Given the description of an element on the screen output the (x, y) to click on. 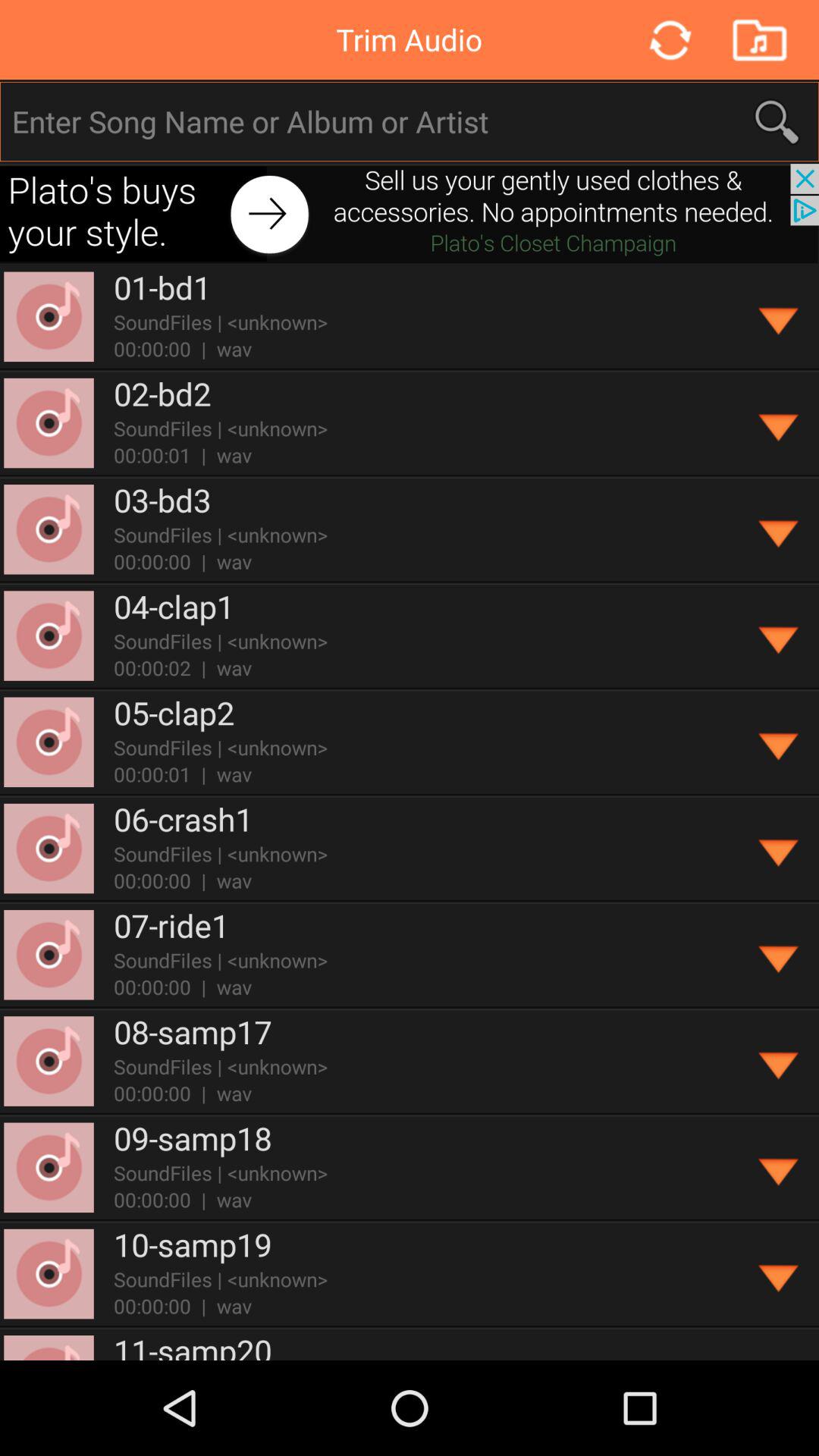
search (409, 121)
